Given the description of an element on the screen output the (x, y) to click on. 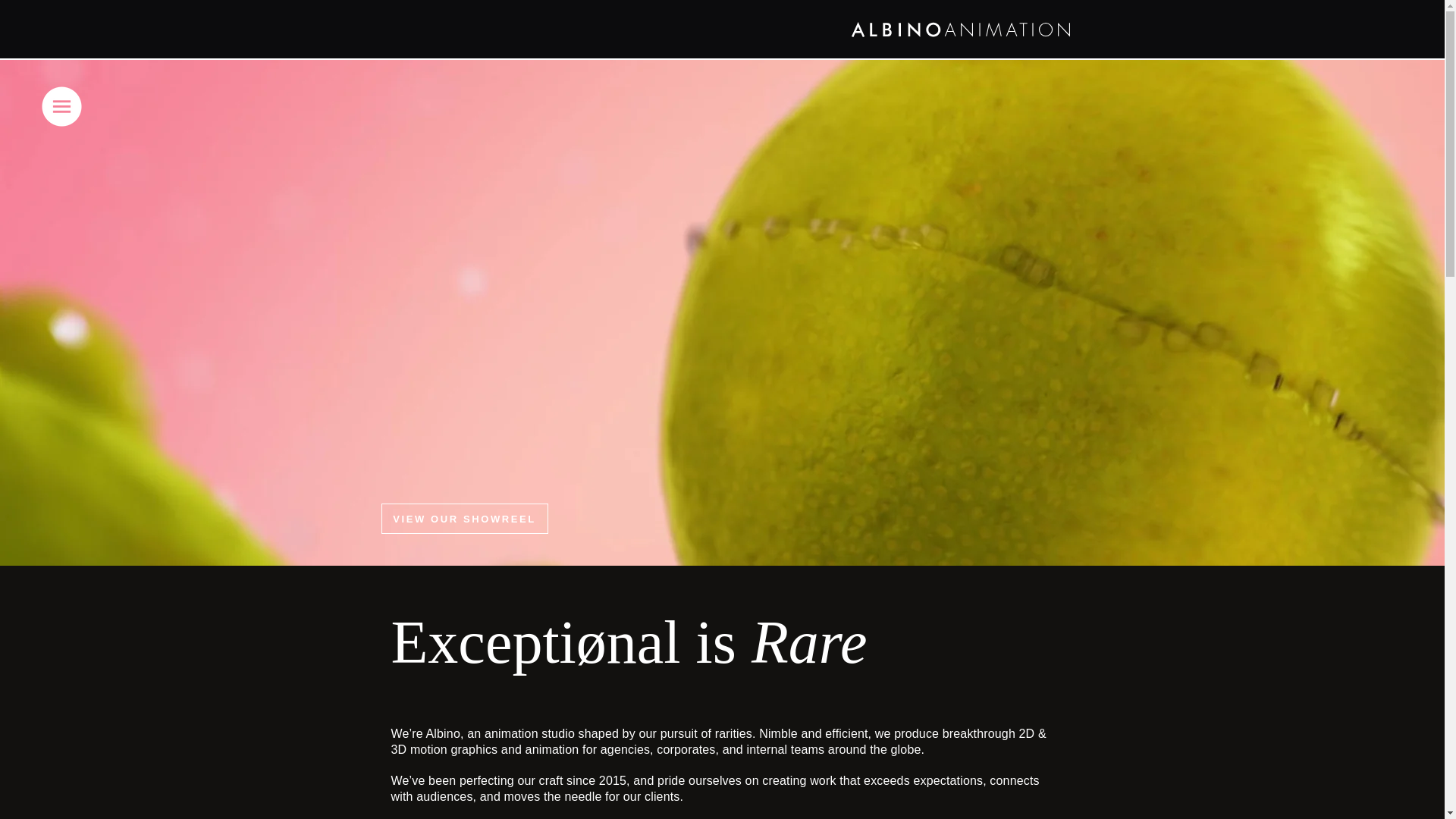
VIEW OUR SHOWREEL (463, 518)
